Given the description of an element on the screen output the (x, y) to click on. 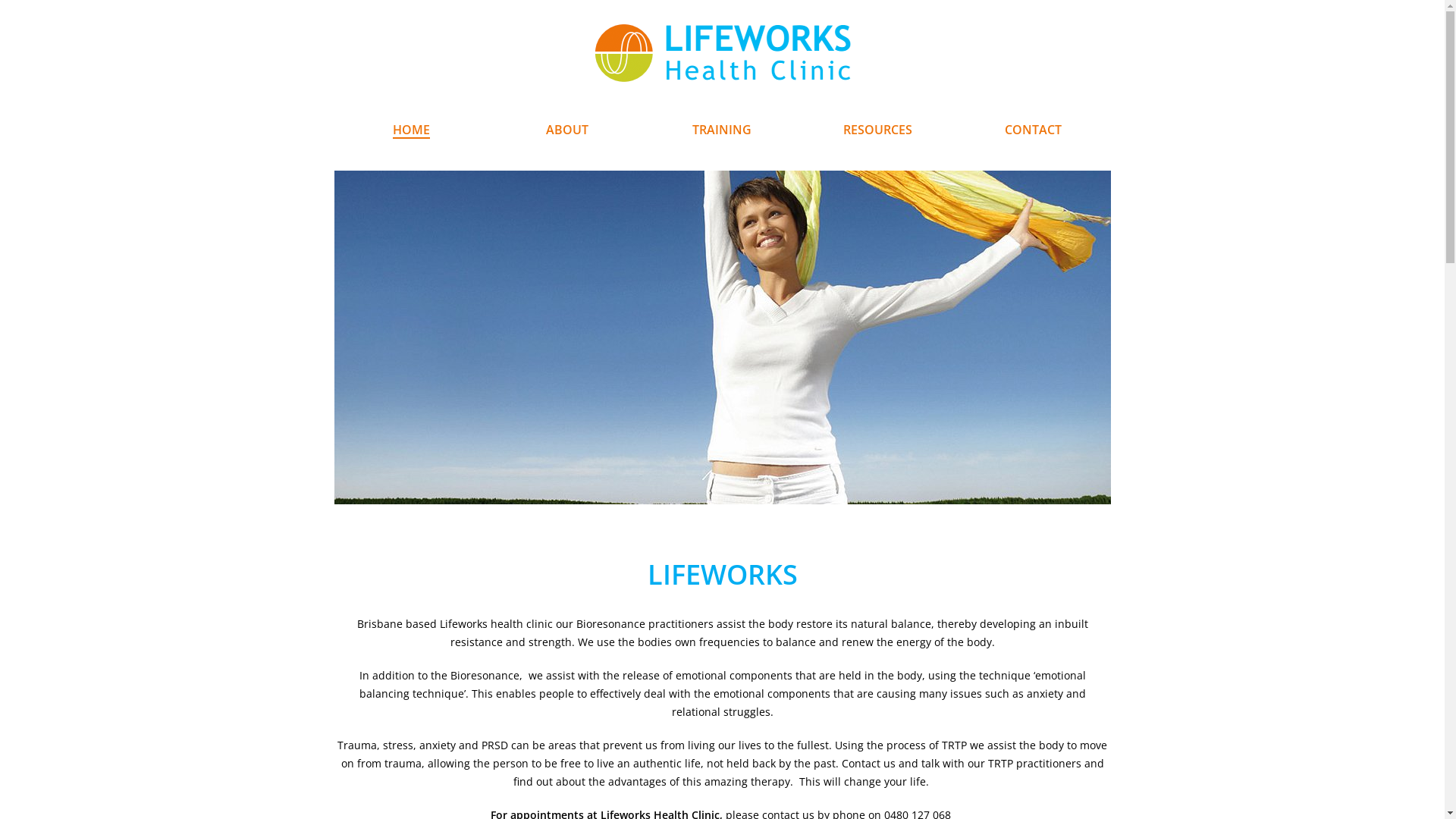
ABOUT Element type: text (567, 130)
CONTACT Element type: text (1032, 130)
TRAINING Element type: text (721, 130)
HOME Element type: text (410, 130)
RESOURCES Element type: text (877, 130)
